Given the description of an element on the screen output the (x, y) to click on. 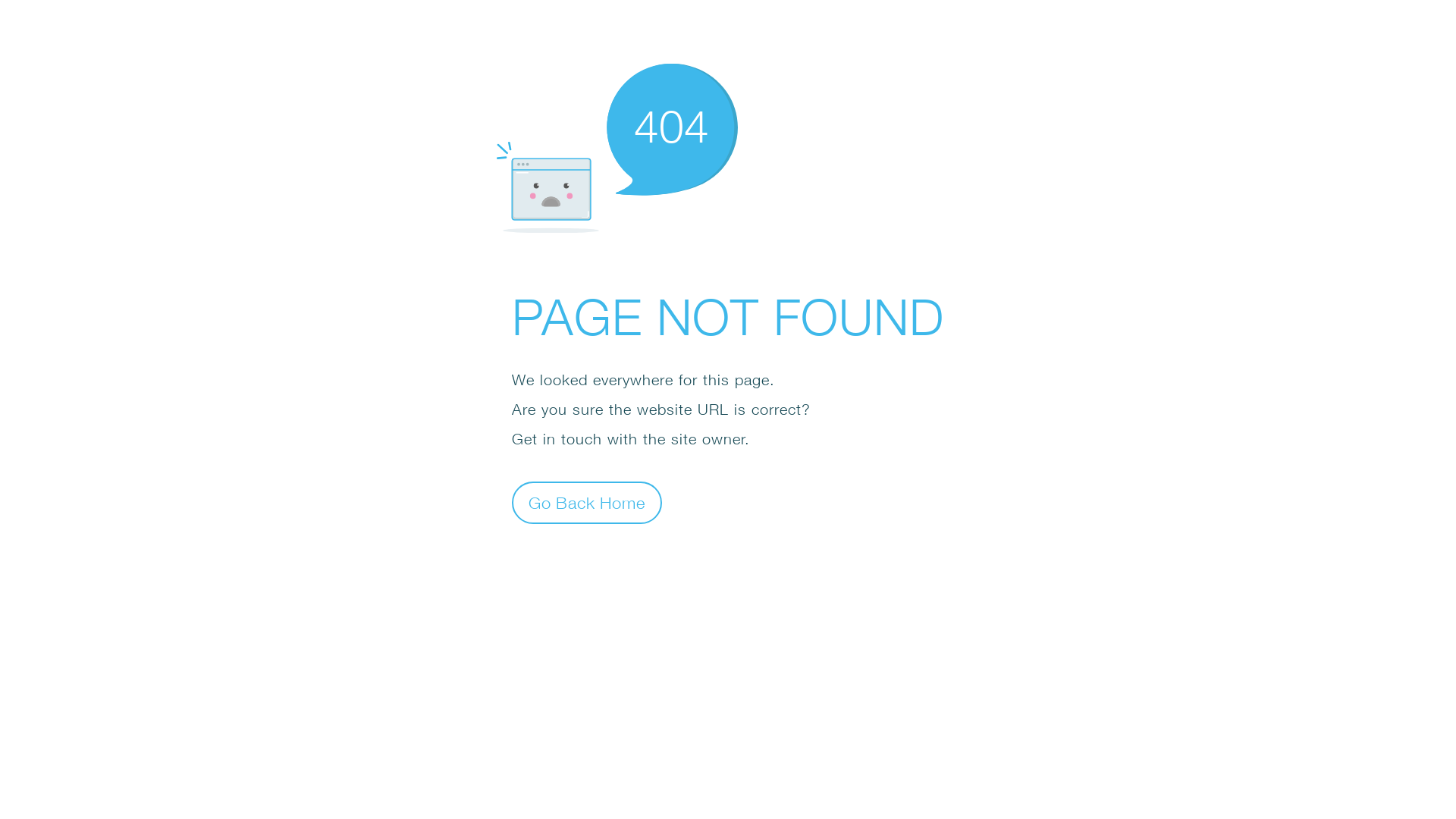
Go Back Home Element type: text (586, 502)
